Given the description of an element on the screen output the (x, y) to click on. 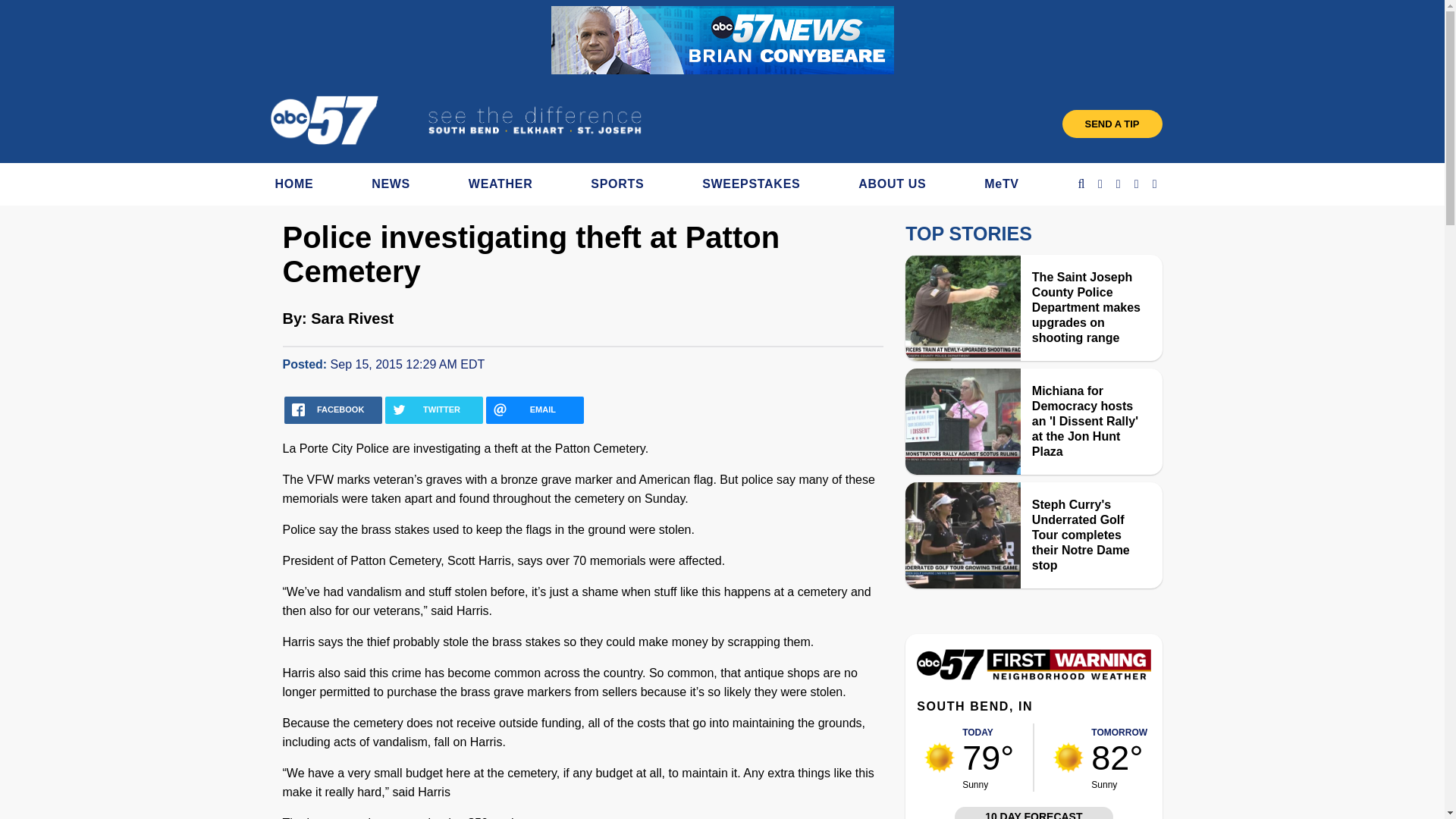
Weather (1033, 675)
weather (1067, 757)
weather (939, 757)
